Given the description of an element on the screen output the (x, y) to click on. 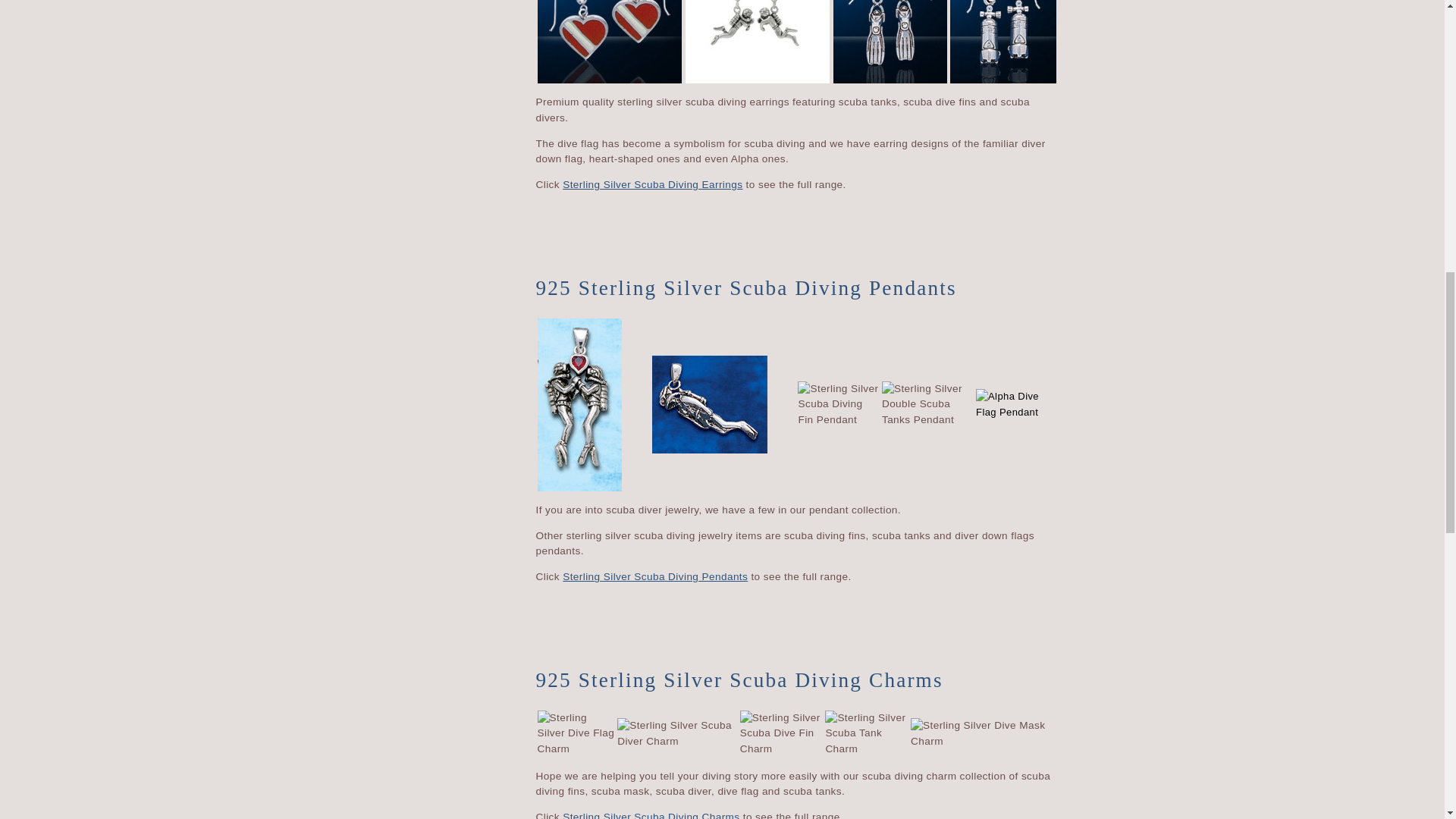
Sterling Silver Scuba Diving Charms (650, 815)
click to view all Sterling Silver Scuba Diving Earrings (652, 184)
Sterling Silver Scuba Diving Pendants (655, 576)
click to view all Sterling Silver Scuba Diving Charms (650, 815)
click to view all Sterling Silver Scuba Diving Pendants (655, 576)
Sterling Silver Scuba Diving Earrings (652, 184)
